Given the description of an element on the screen output the (x, y) to click on. 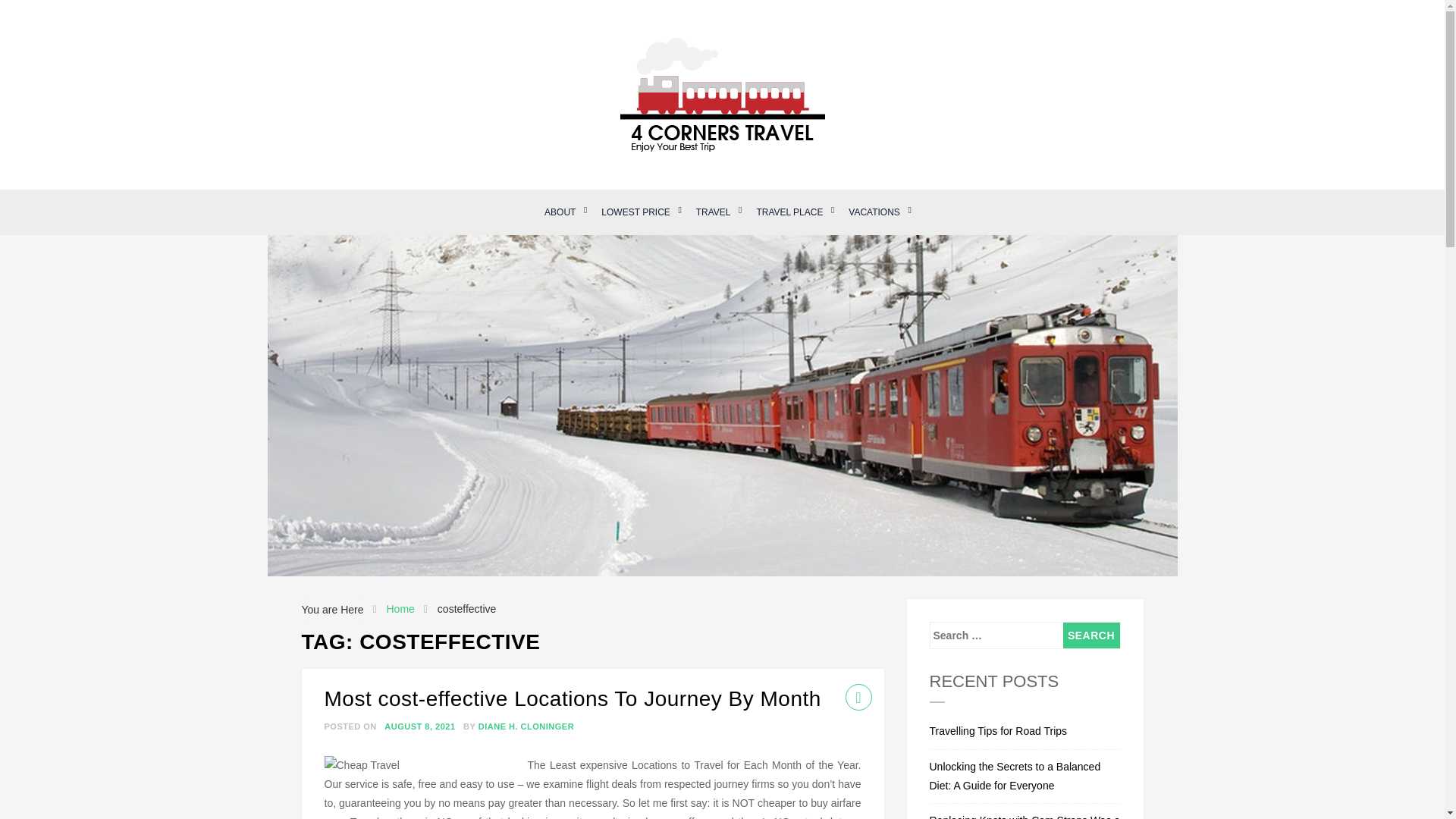
ABOUT (559, 212)
Most cost-effective Locations To Journey By Month (572, 698)
DIANE H. CLONINGER (526, 726)
Home (399, 609)
Search (1090, 635)
Search (1090, 635)
TRAVEL PLACE (789, 212)
4 Corners Travel (426, 171)
LOWEST PRICE (635, 212)
VACATIONS (874, 212)
TRAVEL (713, 212)
AUGUST 8, 2021 (419, 726)
